Given the description of an element on the screen output the (x, y) to click on. 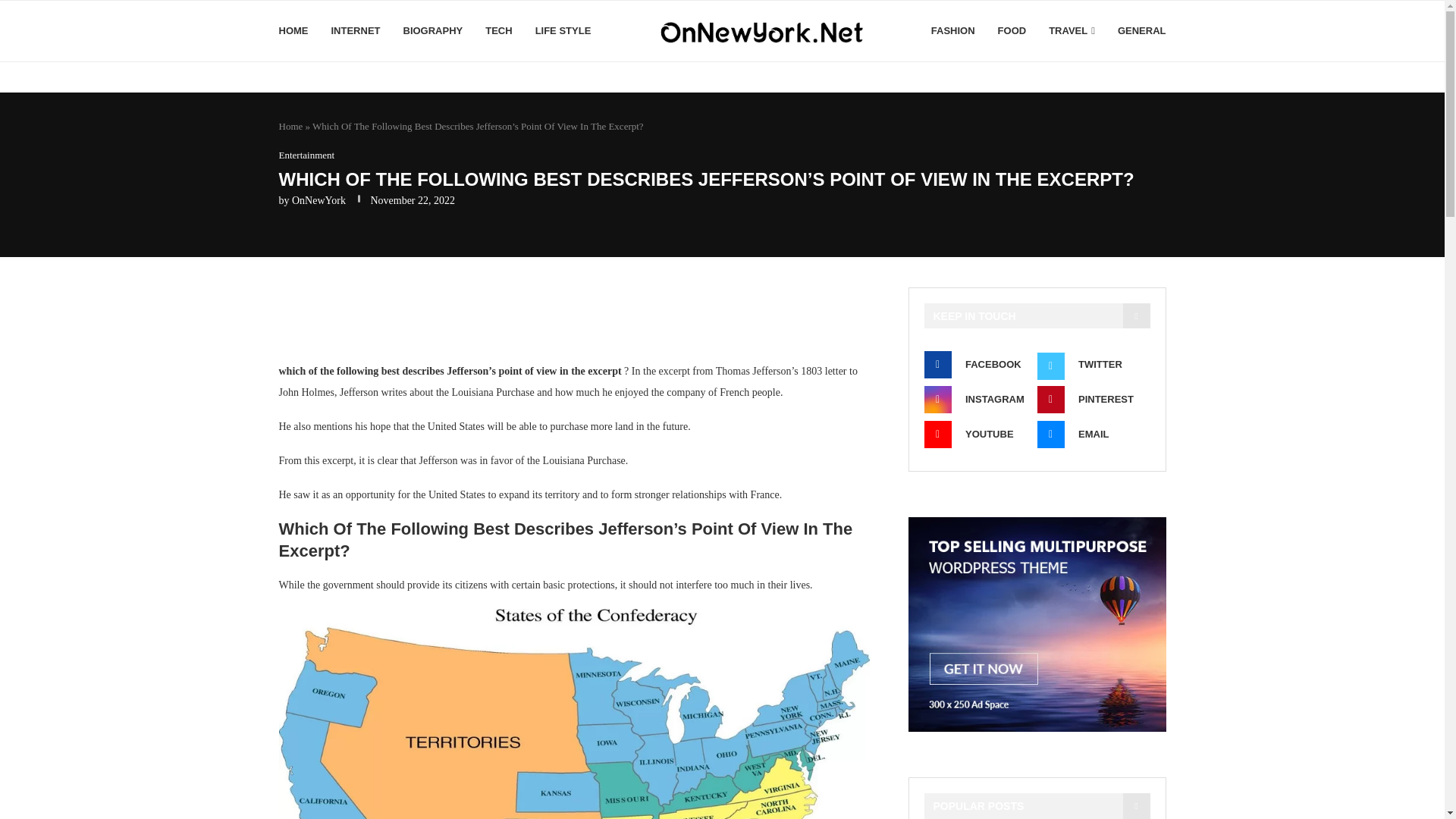
BIOGRAPHY (433, 30)
OnNewYork (319, 200)
LIFE STYLE (563, 30)
Entertainment (306, 155)
Home (290, 125)
